Given the description of an element on the screen output the (x, y) to click on. 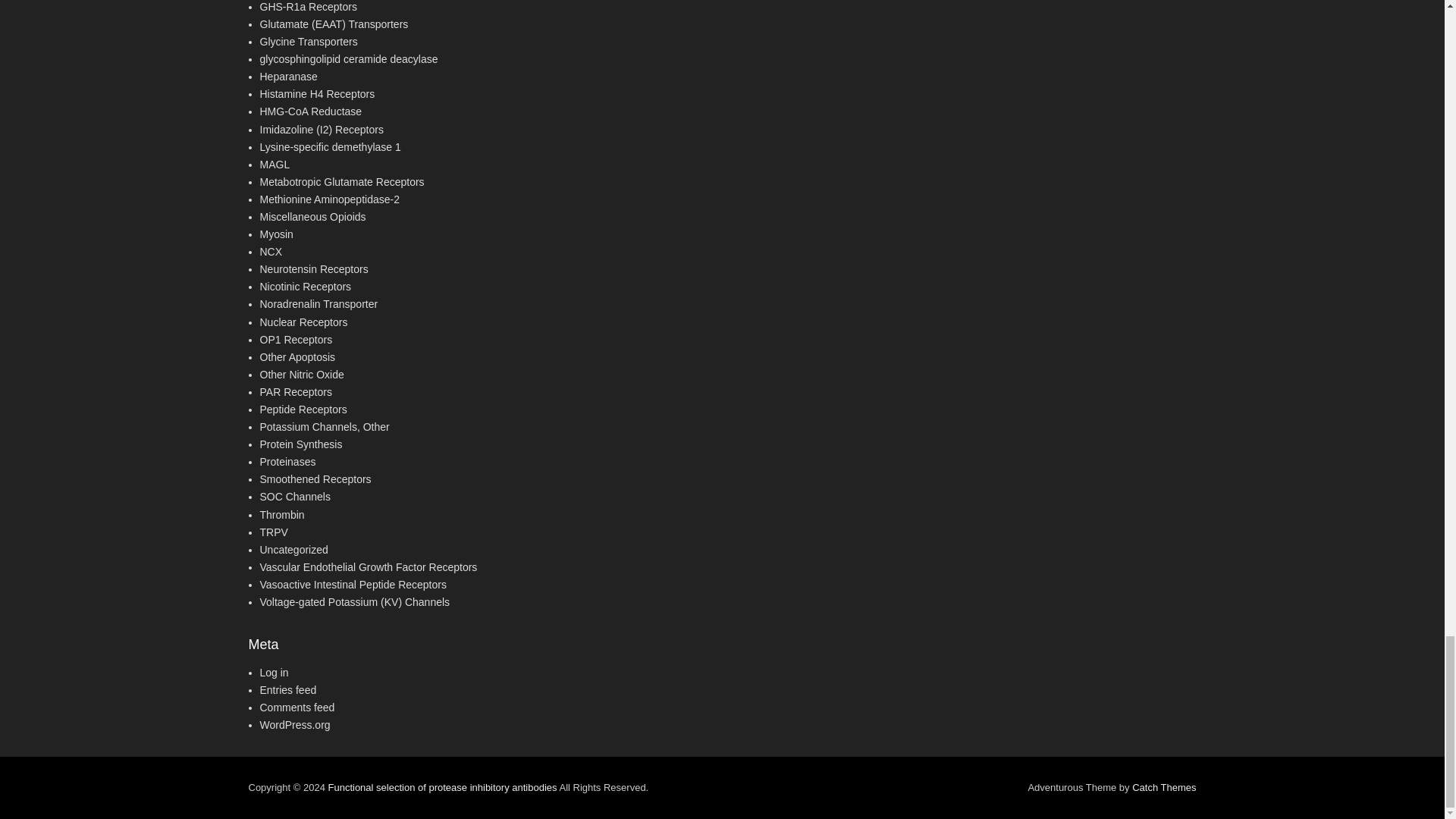
Catch Themes (1163, 787)
Functional selection of protease inhibitory antibodies (441, 787)
